Given the description of an element on the screen output the (x, y) to click on. 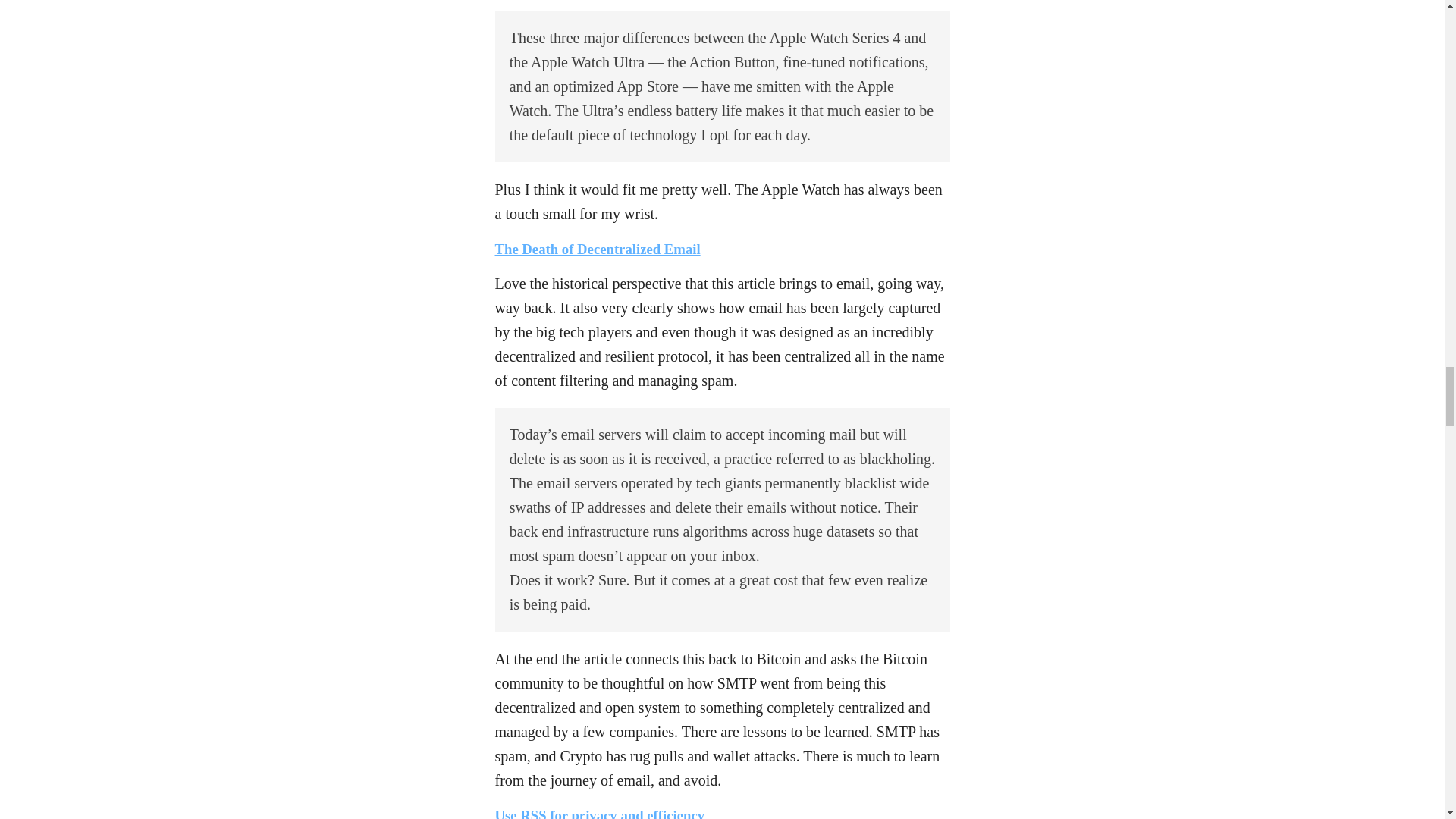
Use RSS for privacy and efficiency (599, 813)
The Death of Decentralized Email (597, 248)
